Given the description of an element on the screen output the (x, y) to click on. 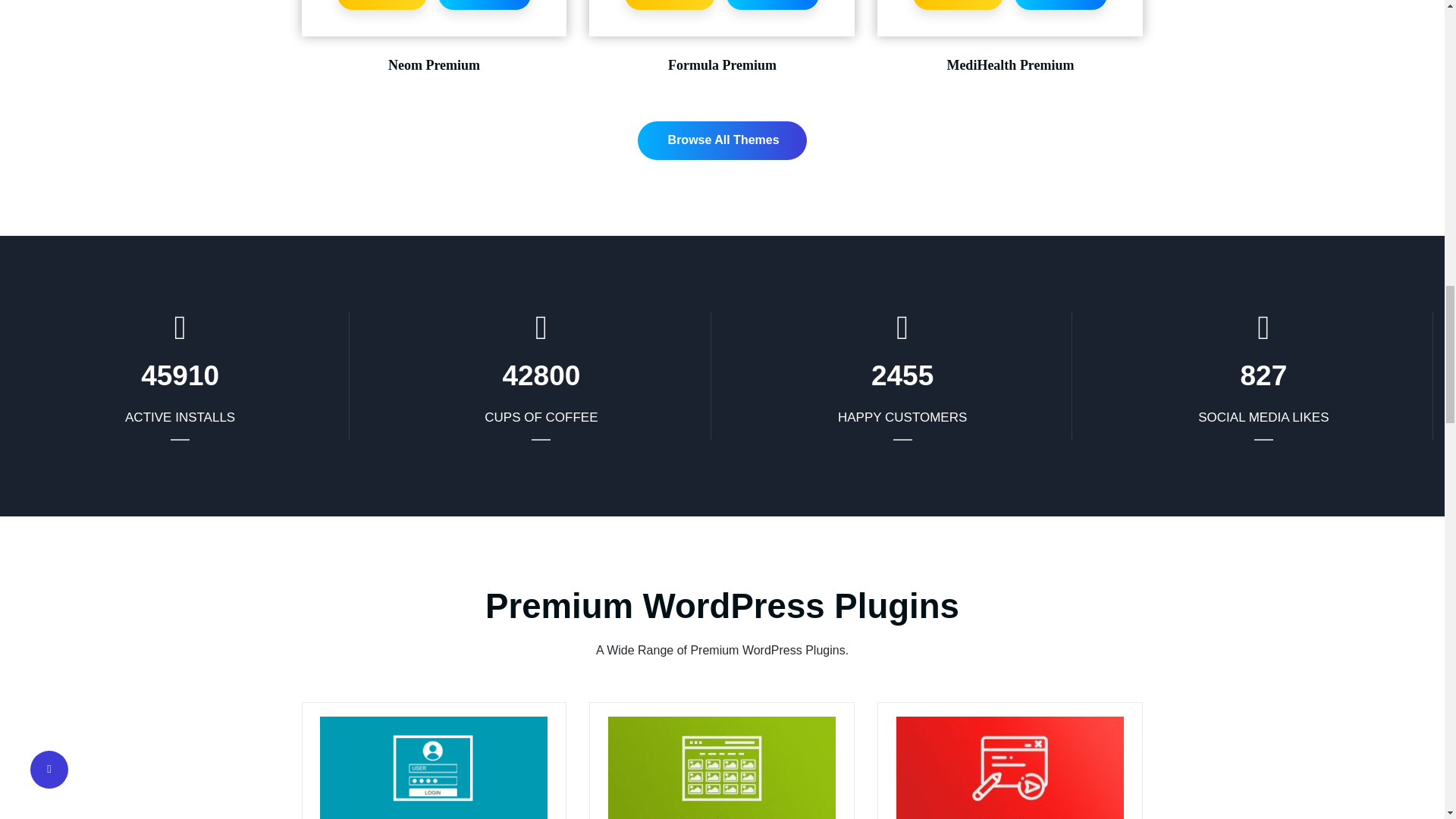
Live Demo (957, 4)
Live Demo (381, 4)
Browse All Themes (721, 140)
See Details (1061, 4)
See Details (484, 4)
See Details (772, 4)
Live Demo (669, 4)
